Given the description of an element on the screen output the (x, y) to click on. 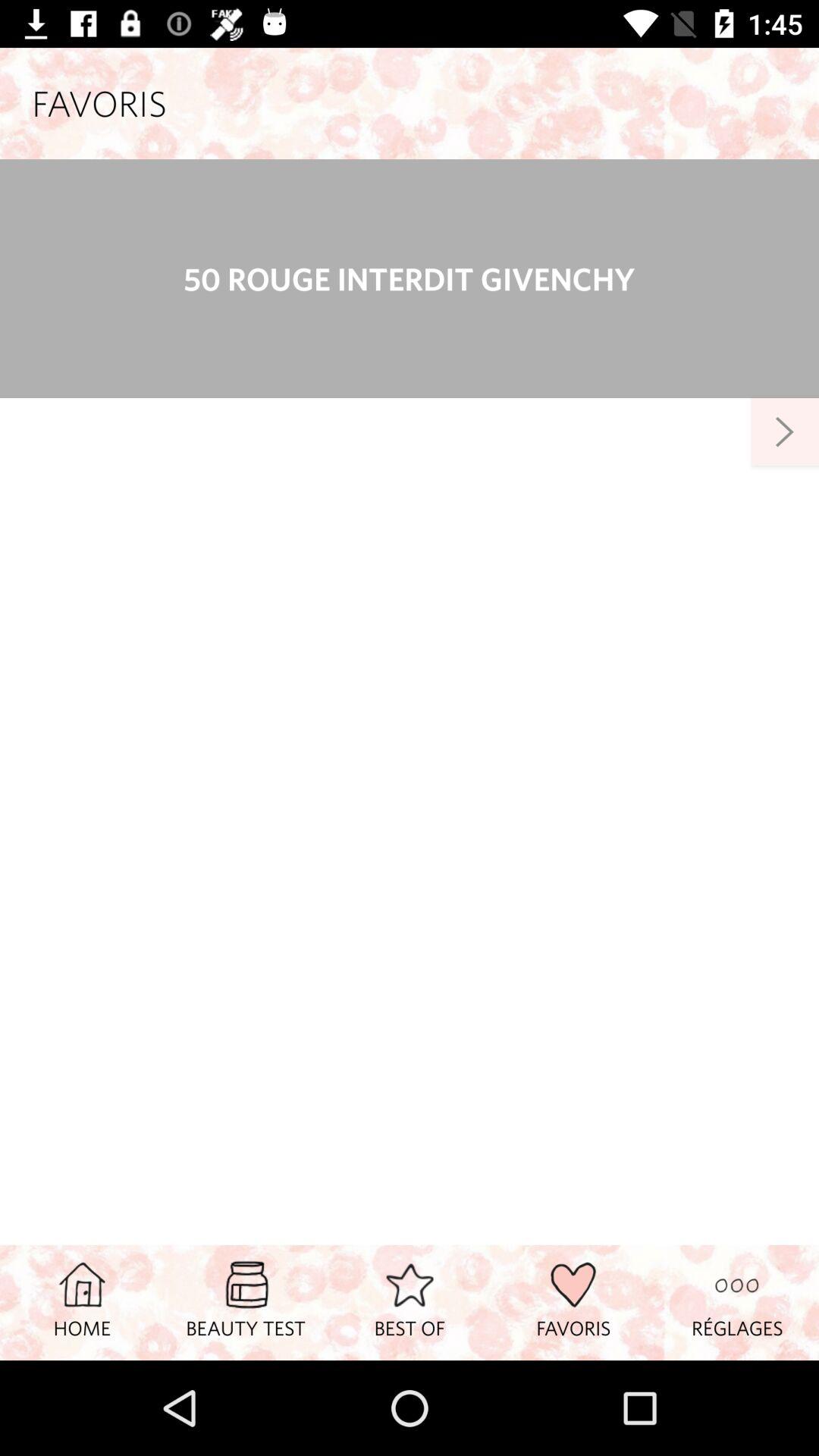
open the home (81, 1302)
